Given the description of an element on the screen output the (x, y) to click on. 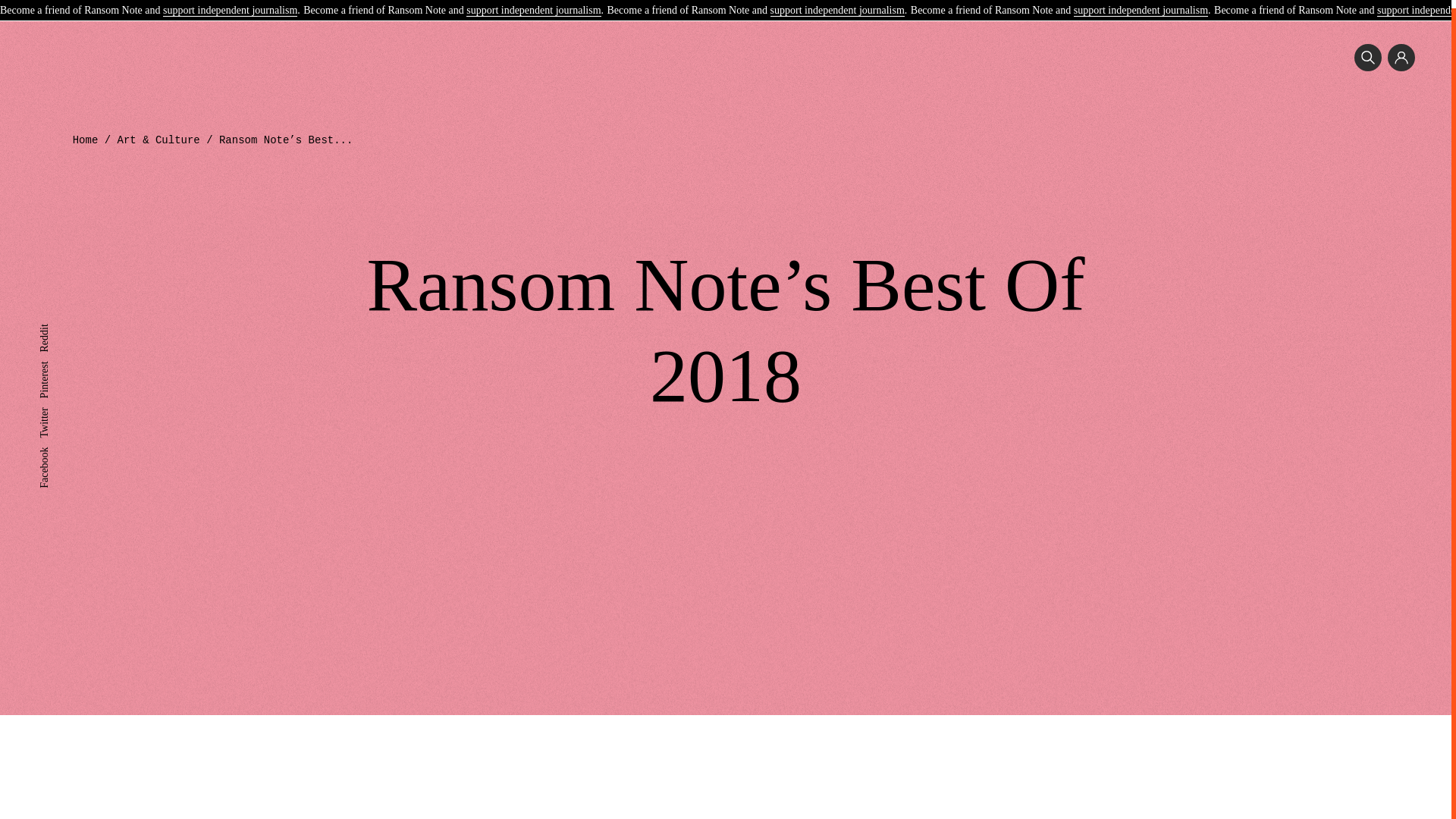
Facebook (59, 444)
Home (85, 140)
support independent journalism (837, 4)
Pinterest (57, 358)
Twitter (53, 404)
support independent journalism (230, 4)
support independent journalism (1141, 4)
support independent journalism (532, 4)
Reddit (52, 321)
